Given the description of an element on the screen output the (x, y) to click on. 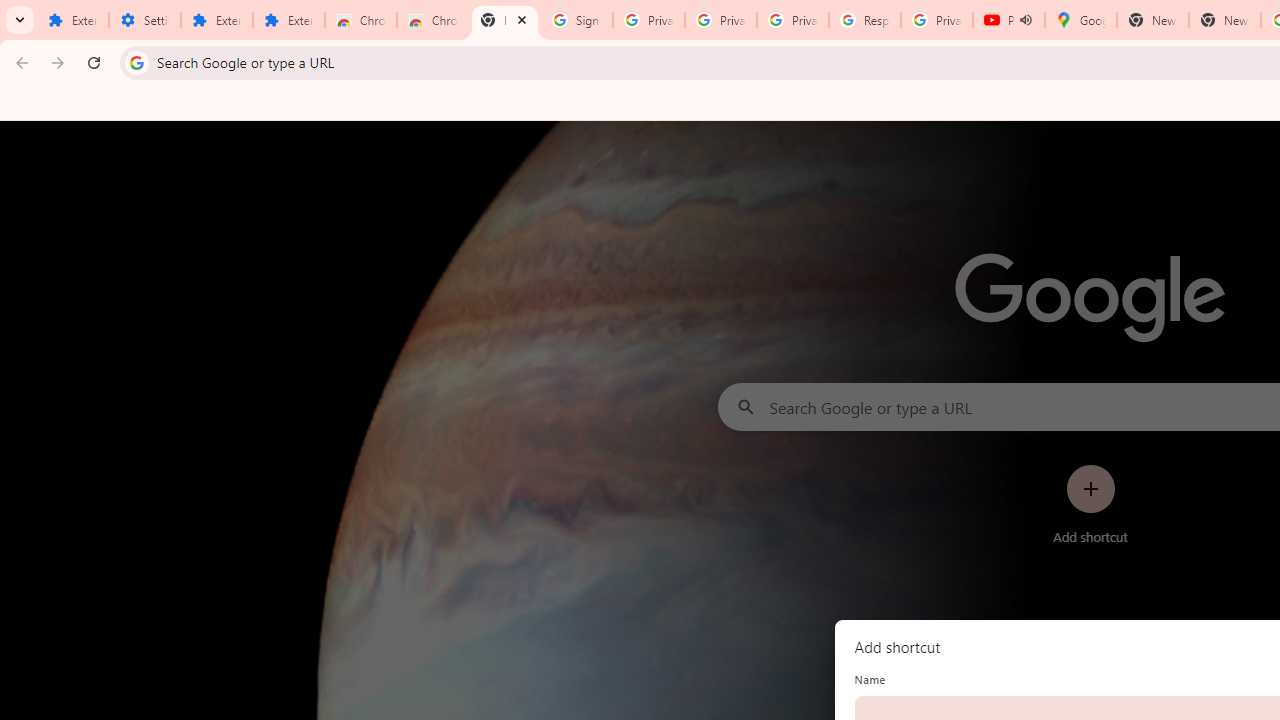
Google Maps (1080, 20)
New Tab (1224, 20)
New Tab (504, 20)
Chrome Web Store - Themes (432, 20)
Extensions (216, 20)
Sign in - Google Accounts (577, 20)
Extensions (72, 20)
Settings (144, 20)
Chrome Web Store (360, 20)
